Given the description of an element on the screen output the (x, y) to click on. 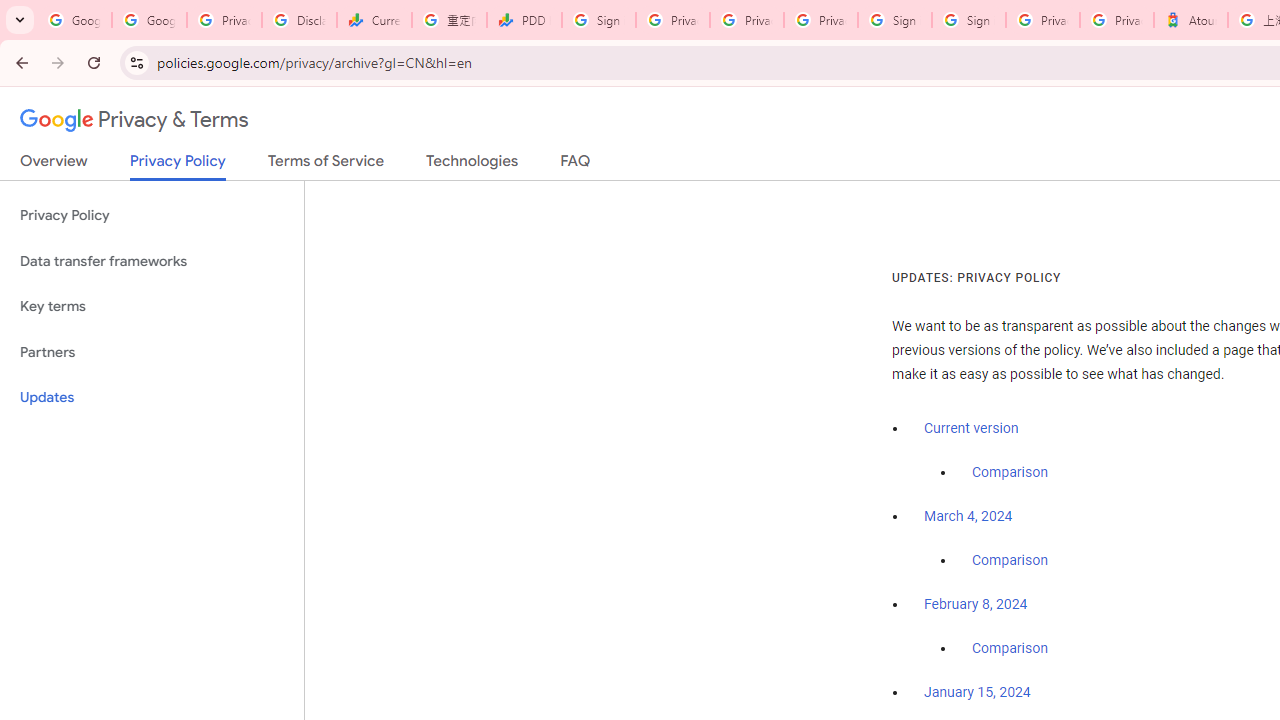
Privacy Policy (152, 215)
Terms of Service (326, 165)
Key terms (152, 306)
Sign in - Google Accounts (968, 20)
PDD Holdings Inc - ADR (PDD) Price & News - Google Finance (523, 20)
Privacy & Terms (134, 120)
Sign in - Google Accounts (598, 20)
Atour Hotel - Google hotels (1190, 20)
Current version (971, 428)
Overview (54, 165)
Privacy Checkup (820, 20)
Privacy Checkup (747, 20)
